Given the description of an element on the screen output the (x, y) to click on. 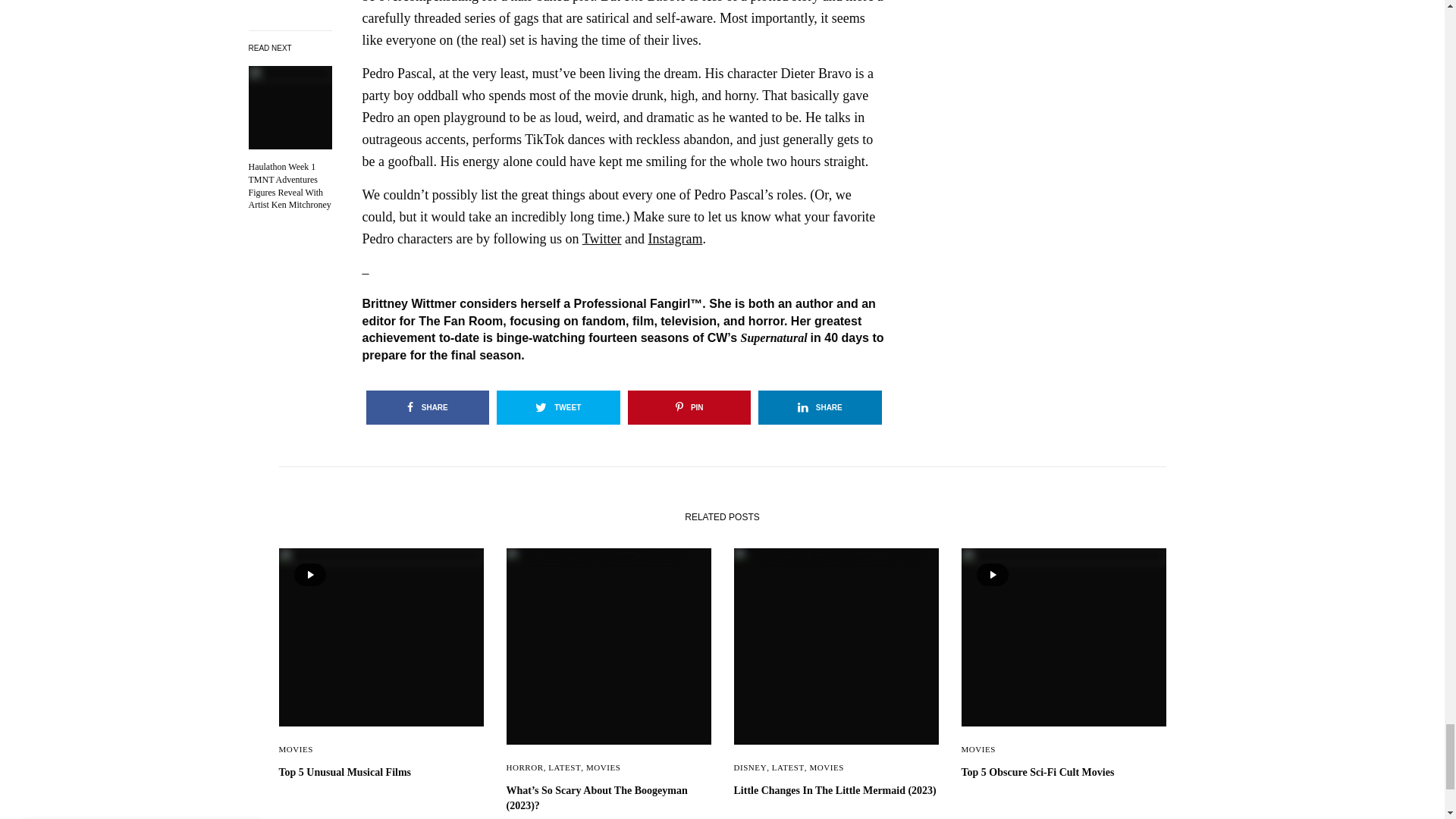
PIN (689, 407)
TWEET (558, 407)
Twitter (601, 238)
Instagram (674, 238)
SHARE (427, 407)
Top 5 Unusual Musical Films (381, 772)
Top 5 Obscure Sci-Fi Cult Movies (1063, 772)
SHARE (820, 407)
